Given the description of an element on the screen output the (x, y) to click on. 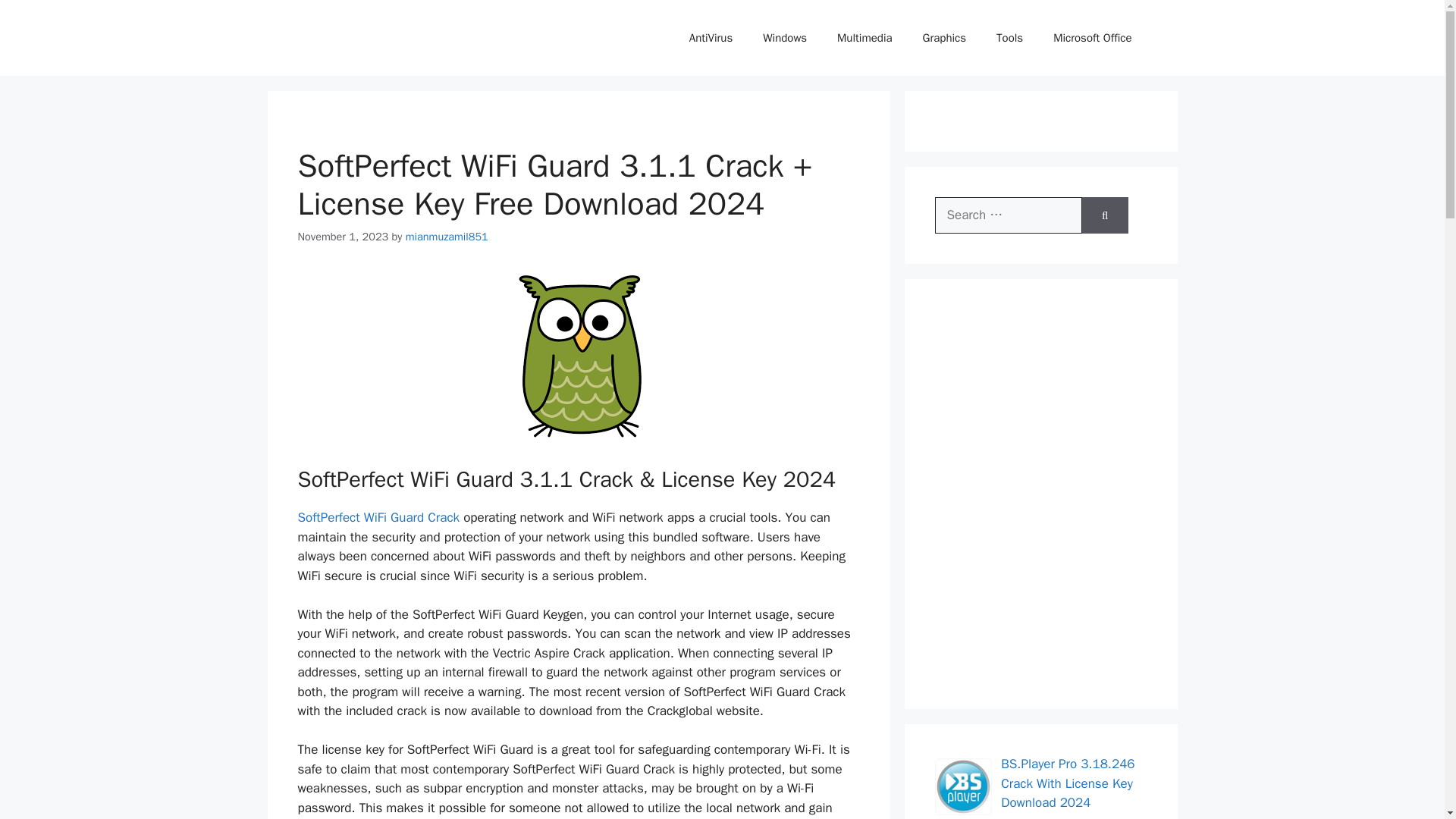
View all posts by mianmuzamil851 (446, 236)
Tools (1009, 37)
Windows (785, 37)
mianmuzamil851 (446, 236)
Microsoft Office (1092, 37)
SoftPerfect WiFi Guard Crack (378, 517)
Multimedia (864, 37)
AntiVirus (711, 37)
Graphics (944, 37)
Search for: (1007, 215)
